Given the description of an element on the screen output the (x, y) to click on. 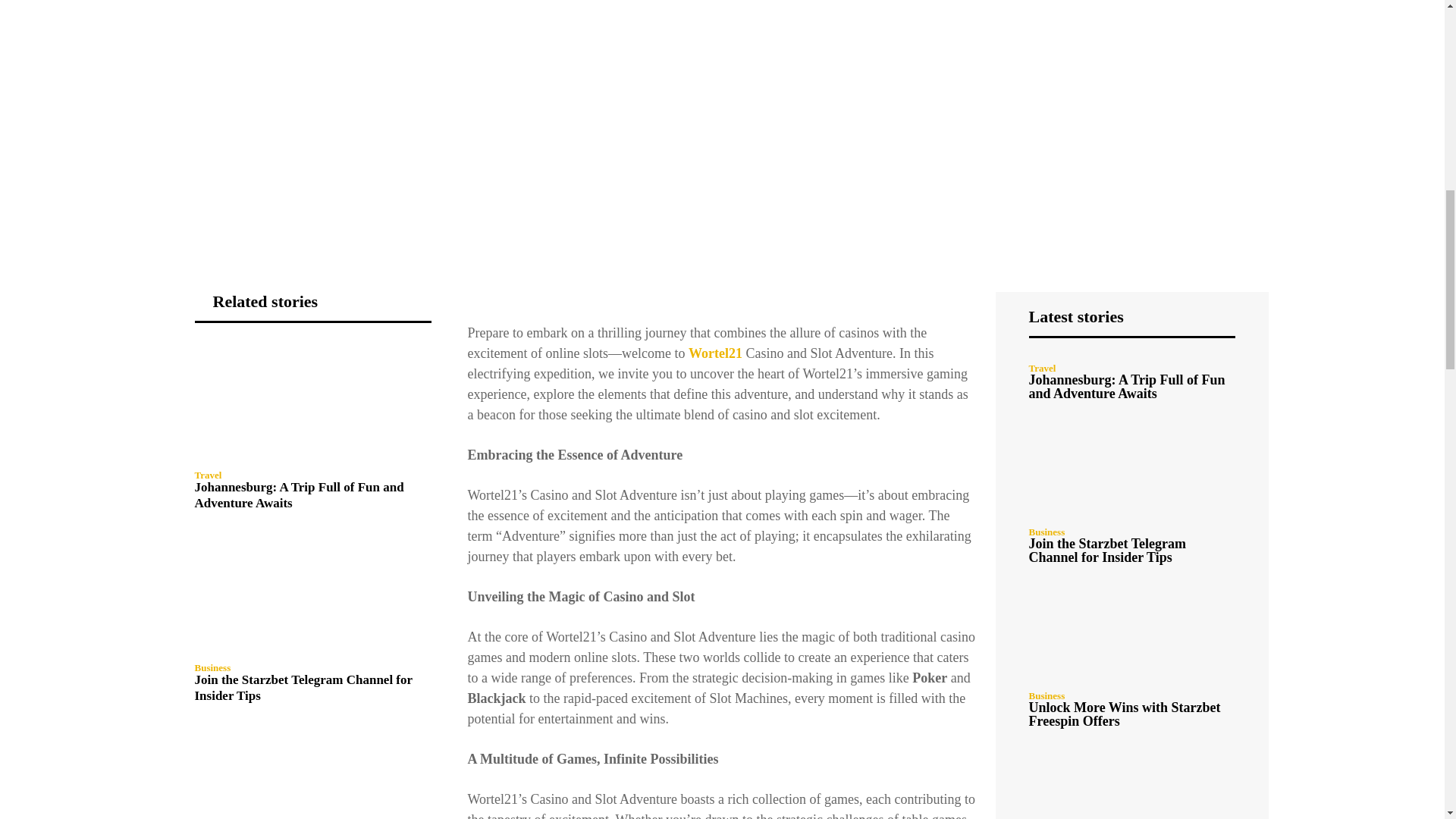
Join the Starzbet Telegram Channel for Insider Tips (311, 593)
Join the Starzbet Telegram Channel for Insider Tips (302, 686)
Johannesburg: A Trip Full of Fun and Adventure Awaits (311, 401)
Johannesburg: A Trip Full of Fun and Adventure Awaits (298, 494)
Unlock More Wins with Starzbet Freespin Offers (311, 773)
